Given the description of an element on the screen output the (x, y) to click on. 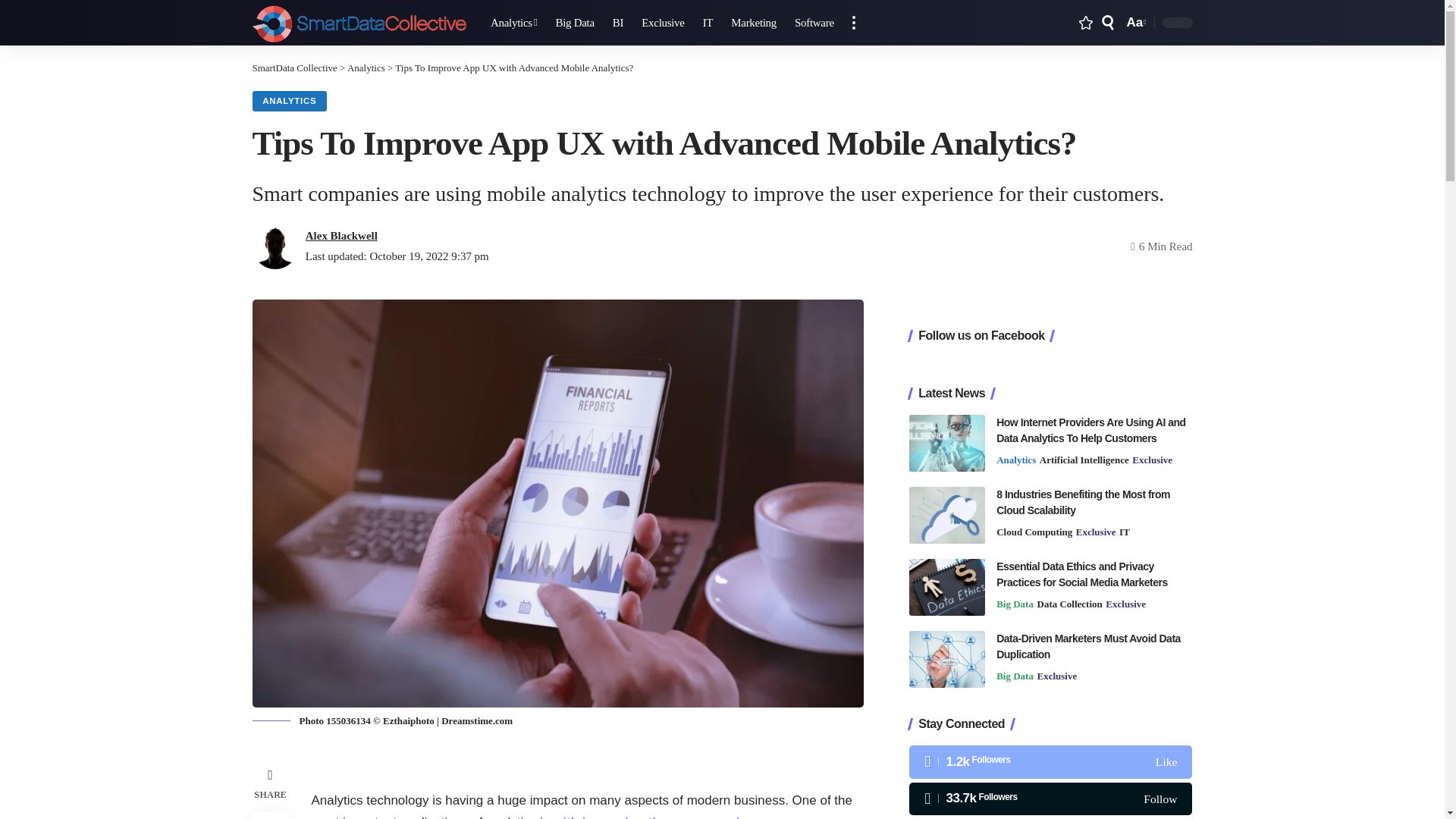
Go to the Analytics Category archives. (366, 67)
Go to SmartData Collective. (293, 67)
SmartData Collective (1133, 23)
8 Industries Benefiting the Most from Cloud Scalability (358, 22)
Software (946, 514)
Big Data (814, 22)
Analytics (574, 22)
Data-Driven Marketers Must Avoid Data Duplication (513, 22)
Marketing (946, 658)
Exclusive (754, 22)
